Given the description of an element on the screen output the (x, y) to click on. 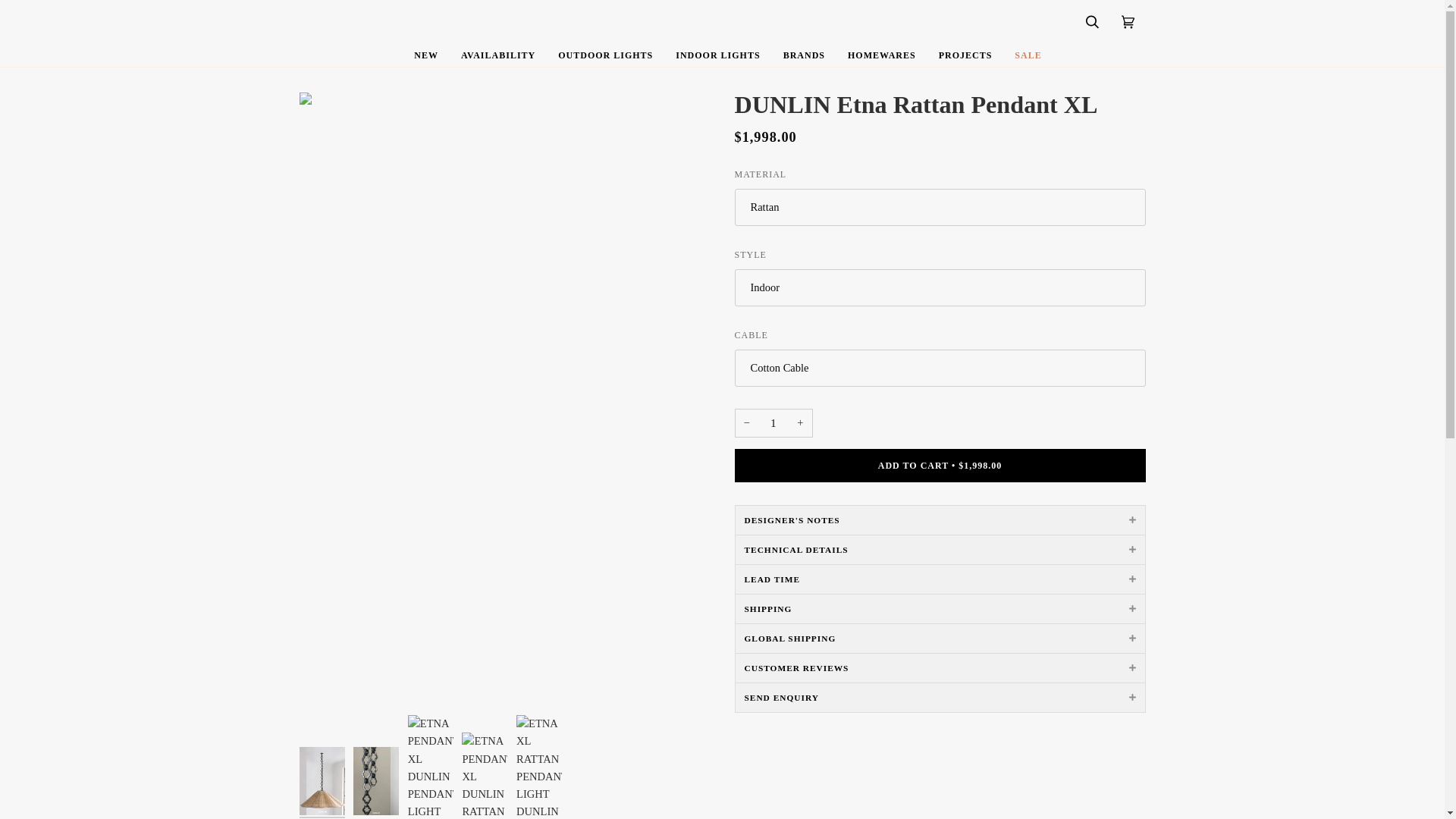
Search (1091, 22)
AVAILABILITY (498, 55)
PROJECTS (965, 55)
NEW (426, 55)
1 (772, 423)
SALE (1027, 55)
INDOOR LIGHTS (717, 55)
HOMEWARES (881, 55)
BRANDS (803, 55)
OUTDOOR LIGHTS (605, 55)
